Given the description of an element on the screen output the (x, y) to click on. 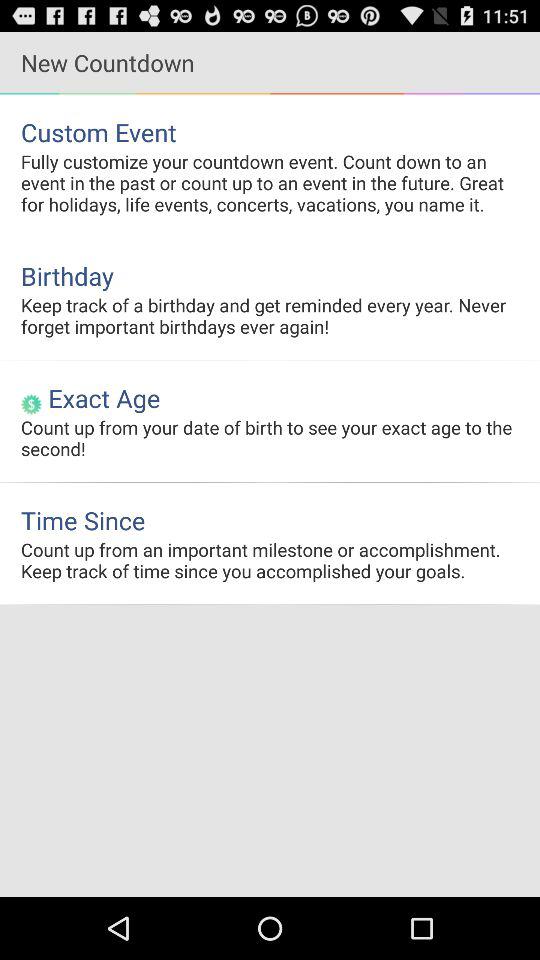
choose custom event icon (270, 132)
